Given the description of an element on the screen output the (x, y) to click on. 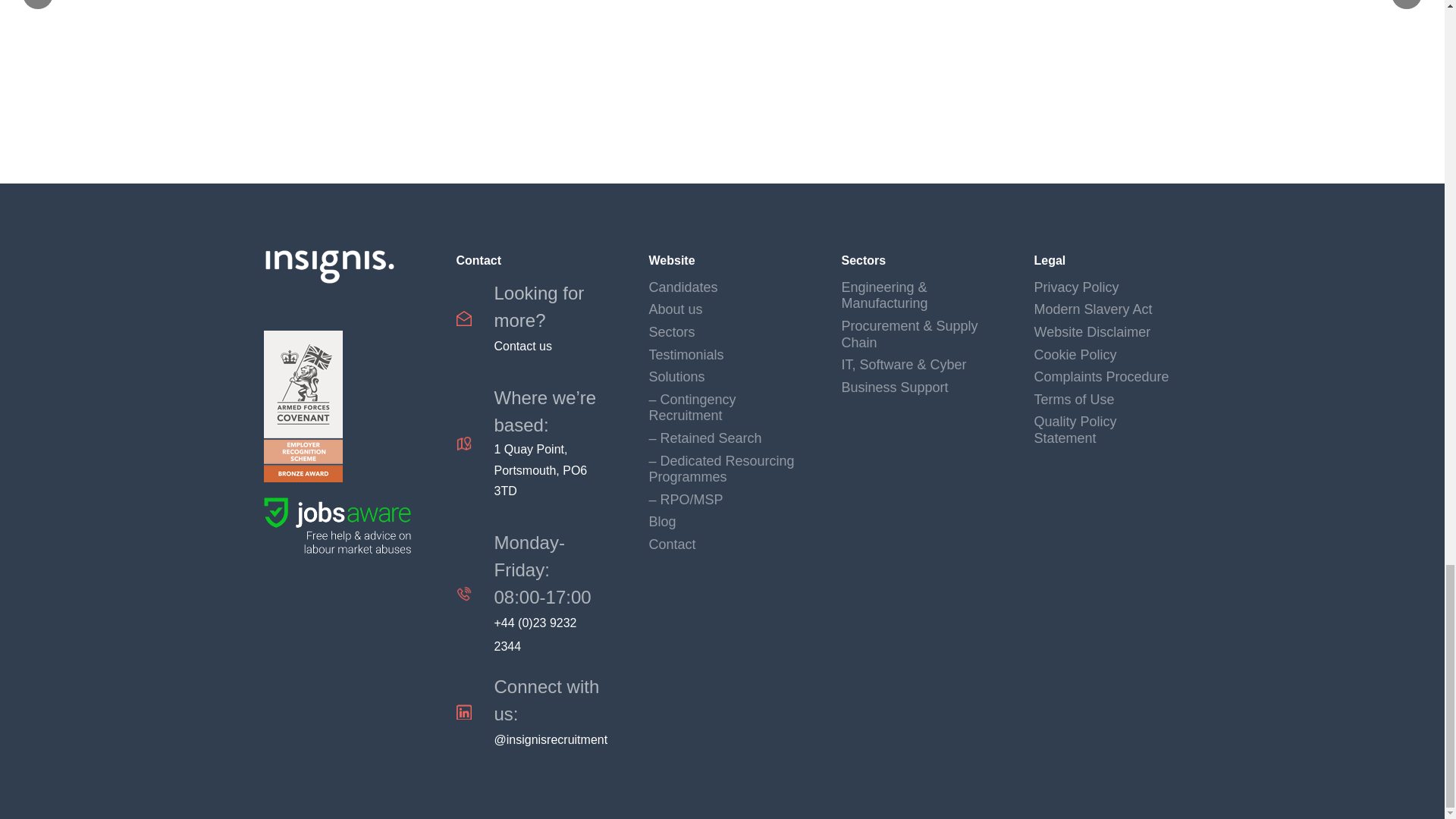
Contact (530, 318)
